Given the description of an element on the screen output the (x, y) to click on. 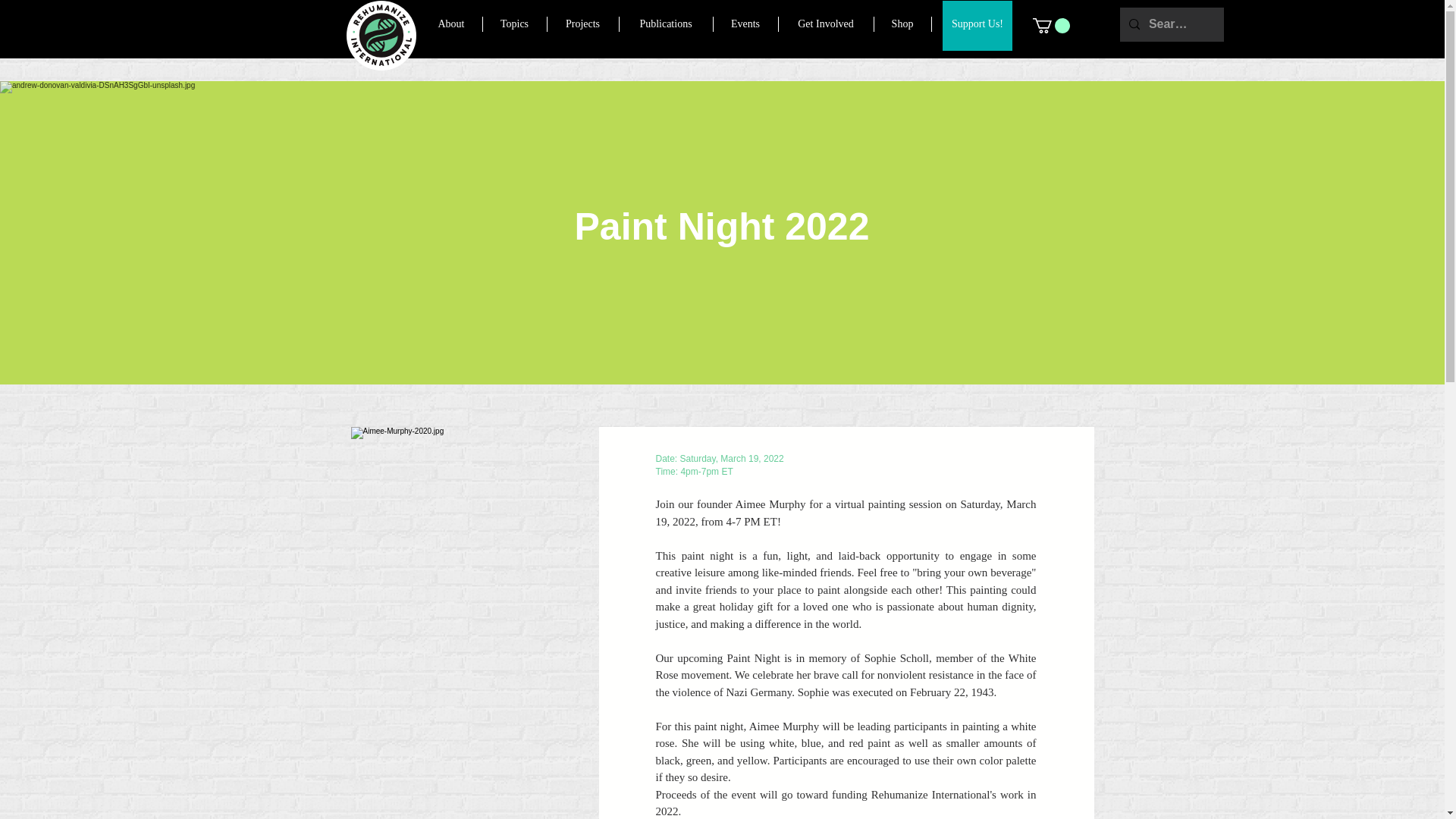
Events (745, 23)
Projects (581, 23)
Get Involved (825, 23)
